Given the description of an element on the screen output the (x, y) to click on. 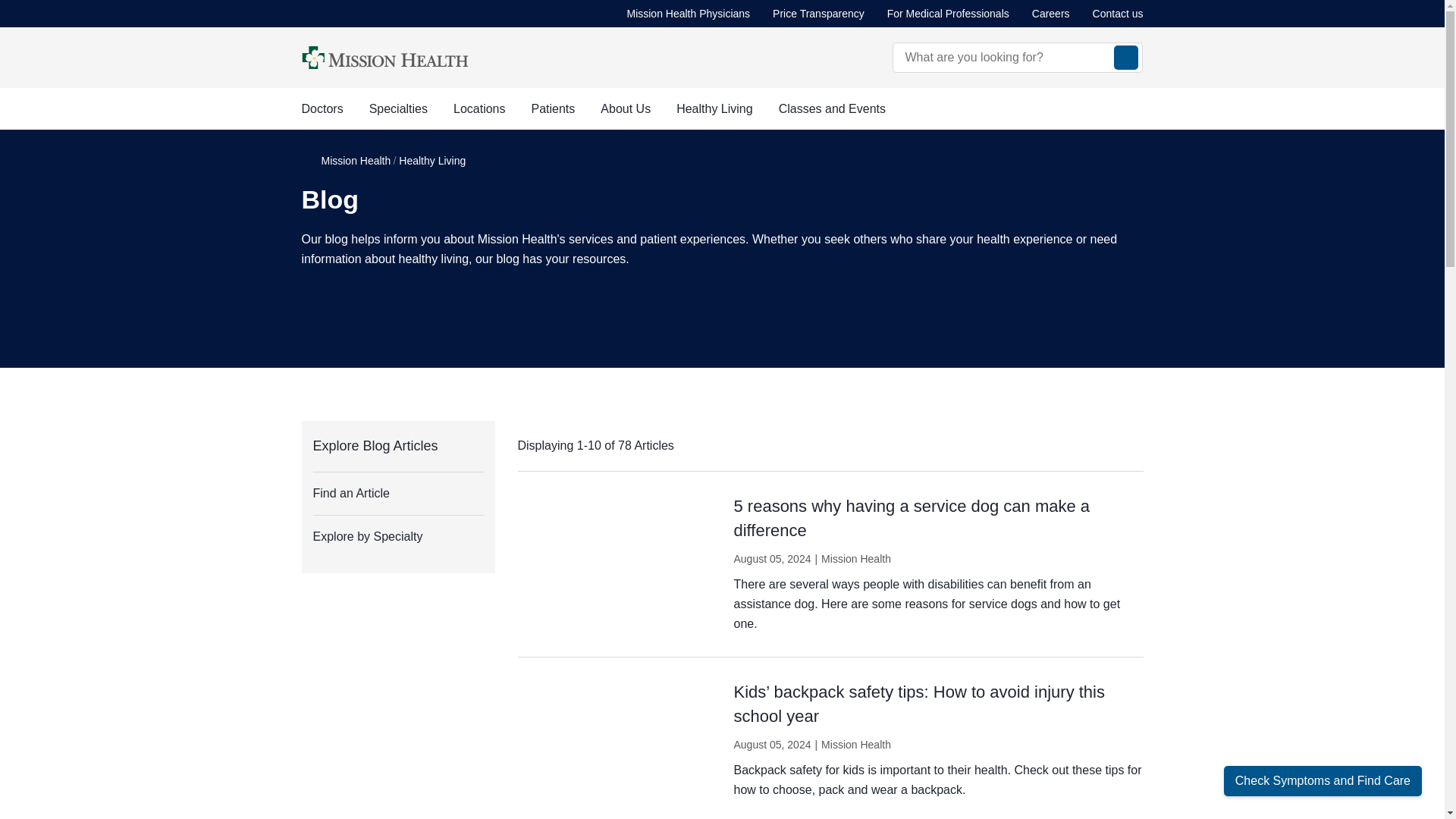
Price Transparency (818, 13)
Specialties (398, 108)
Mission Health Physicians (687, 13)
Careers (1051, 13)
Doctors (322, 108)
Skip to Content (3, 3)
Contact us (1117, 13)
For Medical Professionals (947, 13)
